Given the description of an element on the screen output the (x, y) to click on. 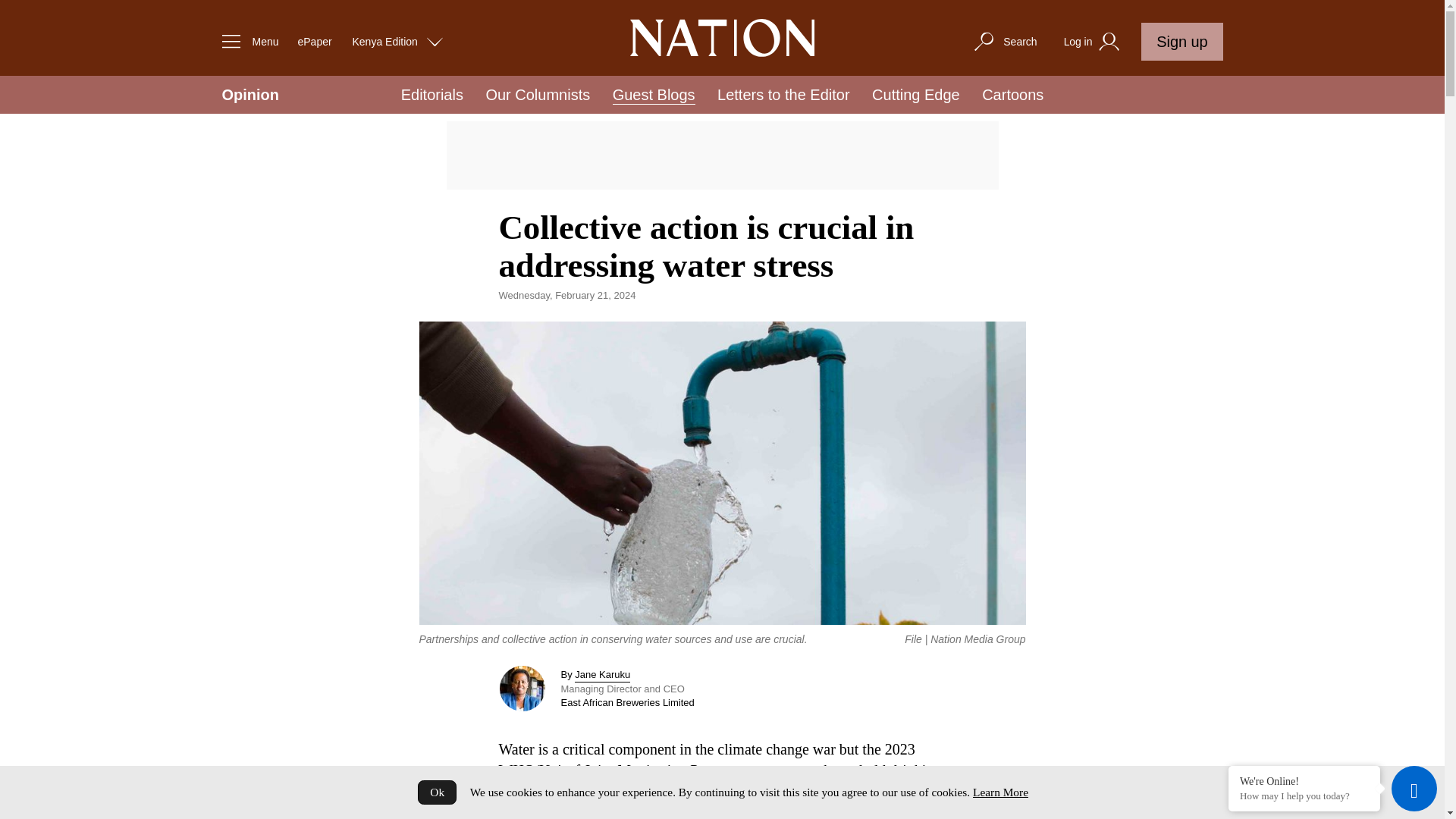
Ok (437, 792)
Our Columnists (536, 94)
Search (1003, 41)
Learn More (999, 791)
We're Online! (1304, 780)
Kenya Edition (398, 41)
Cartoons (1012, 94)
How may I help you today? (1304, 796)
Guest Blogs (653, 95)
Log in (1094, 41)
